Given the description of an element on the screen output the (x, y) to click on. 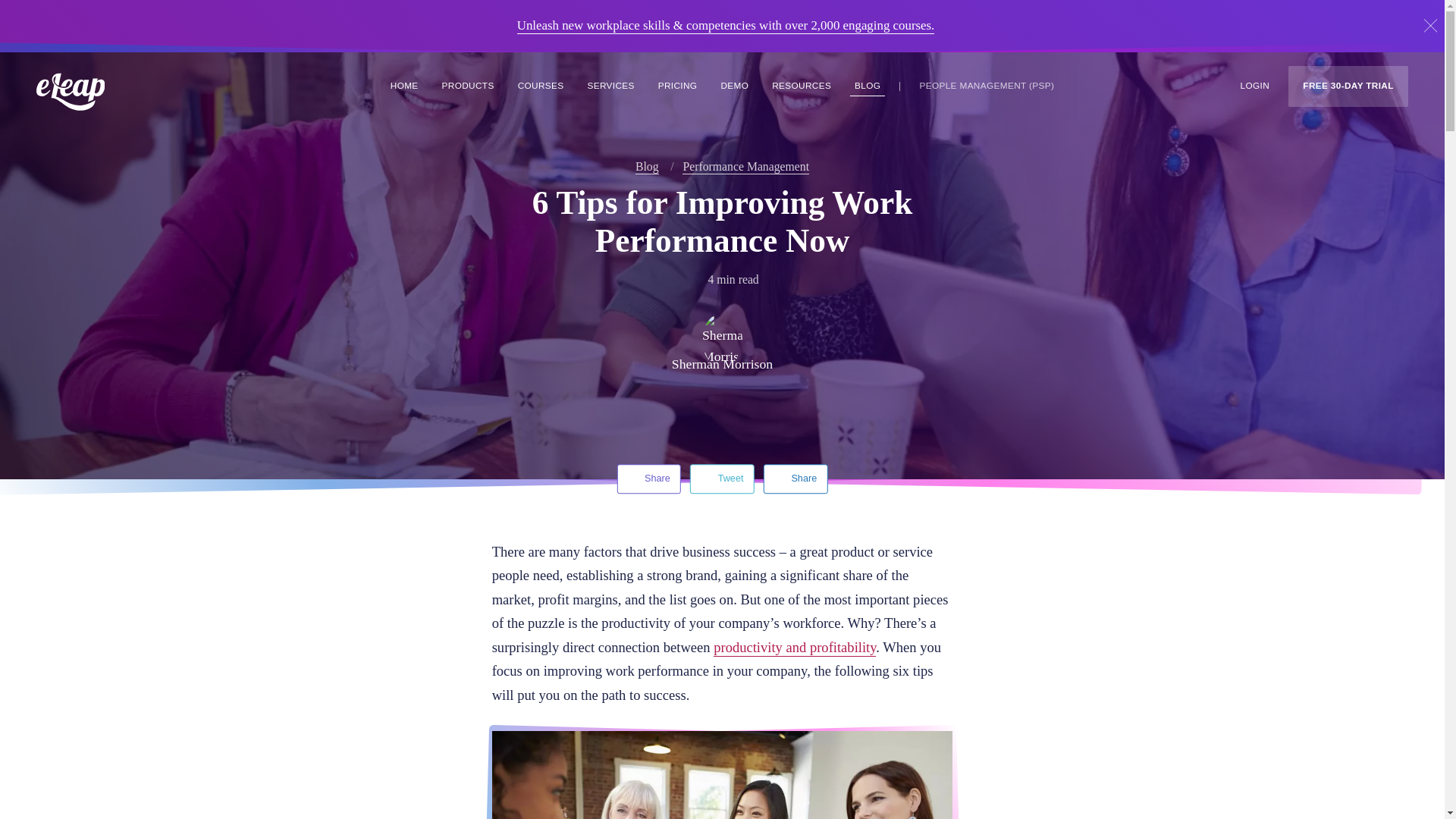
FREE 30-DAY TRIAL (1347, 86)
PRICING (677, 85)
SERVICES (611, 85)
HOME (404, 85)
RESOURCES (801, 85)
Dismiss (1430, 26)
COURSES (541, 85)
Blog (646, 166)
Tweet (722, 479)
productivity and profitability (794, 647)
